Given the description of an element on the screen output the (x, y) to click on. 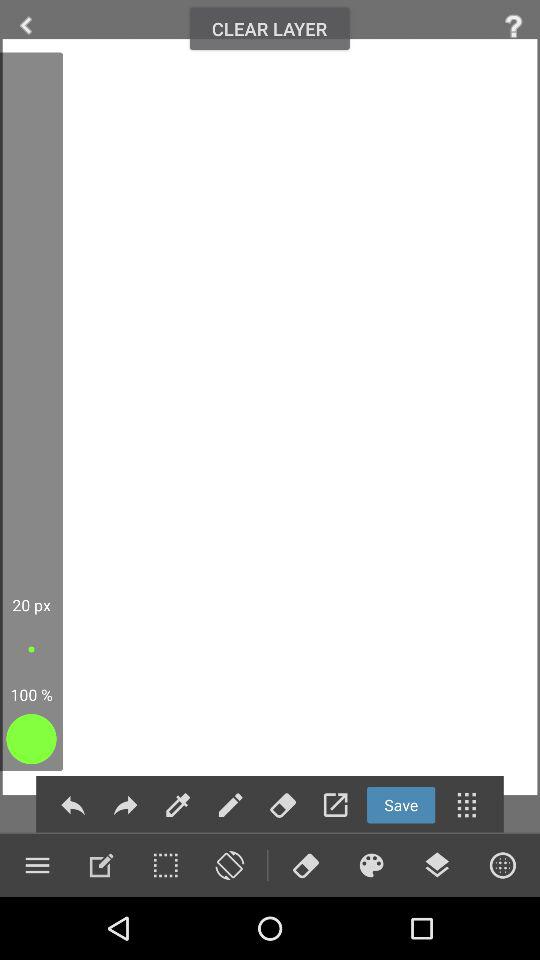
erase button (305, 865)
